Given the description of an element on the screen output the (x, y) to click on. 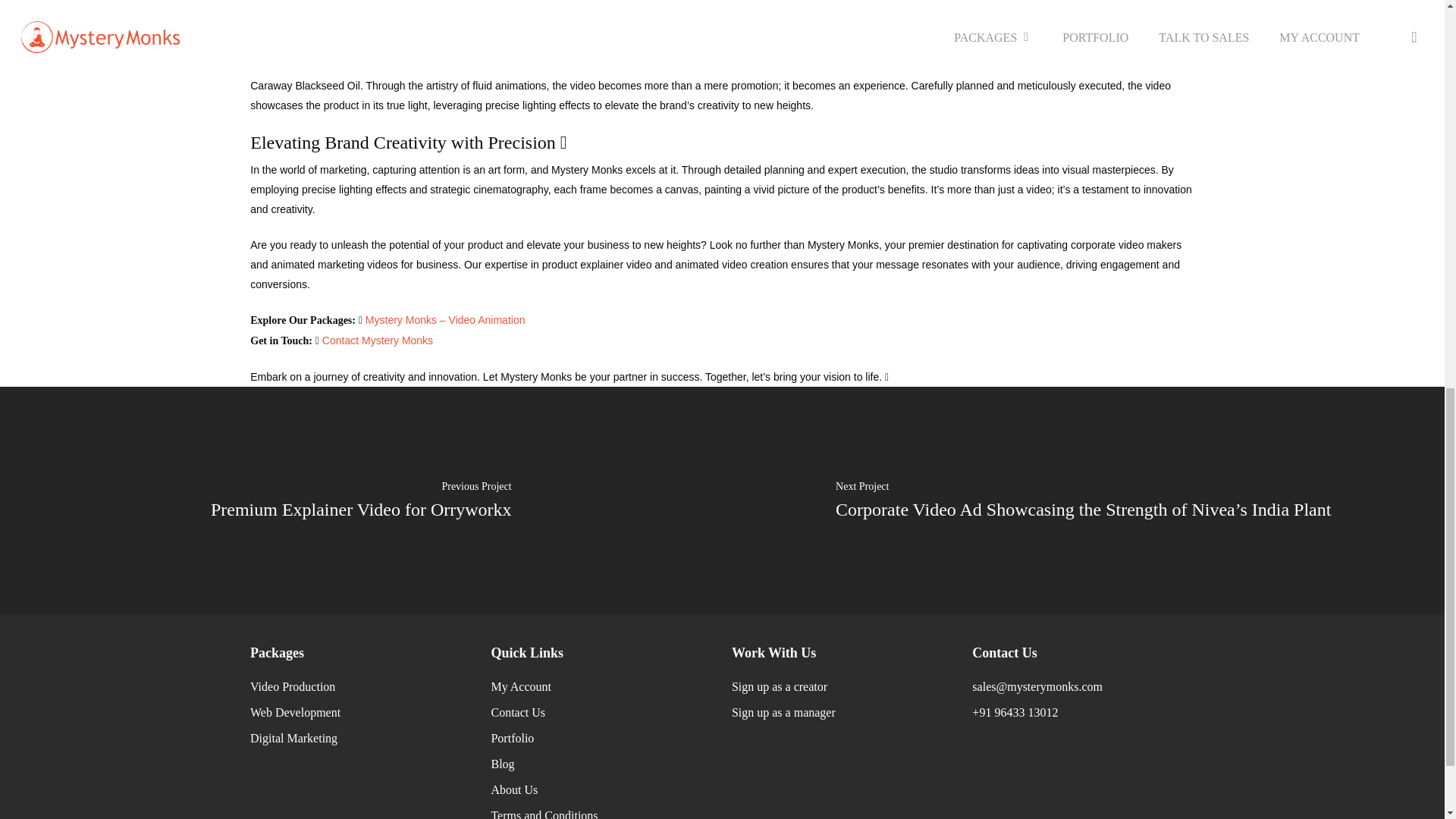
Blog (501, 763)
Digital Marketing (293, 738)
Portfolio (512, 738)
Contact Us (517, 712)
About Us (513, 789)
Terms and Conditions (543, 814)
Video Production (292, 686)
Web Development (295, 712)
Sign up as a creator (779, 686)
Contact Mystery Monks (376, 340)
My Account (520, 686)
Sign up as a manager (783, 712)
